Given the description of an element on the screen output the (x, y) to click on. 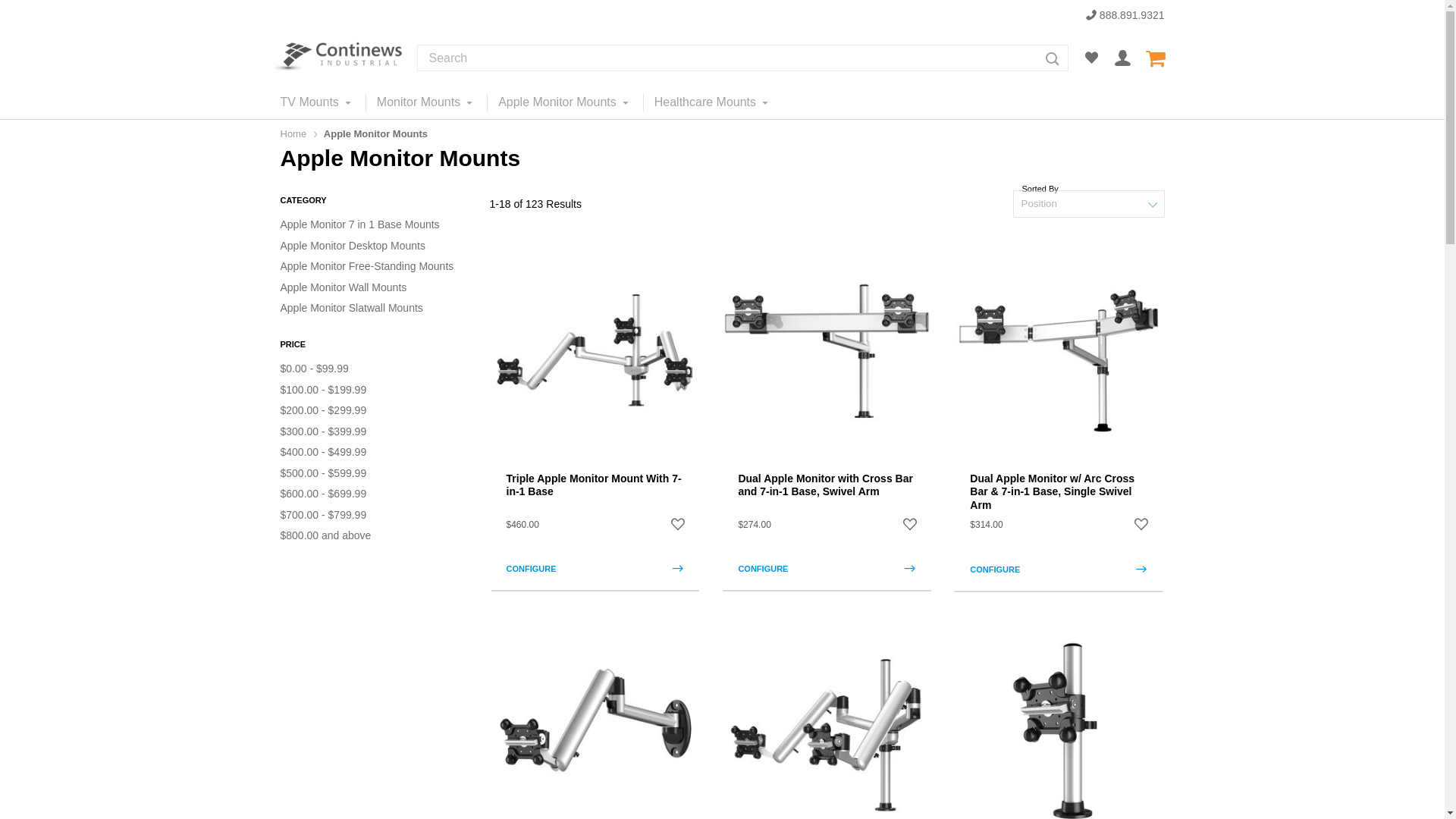
Search (1051, 58)
Add to Wish List (909, 524)
Go to Home Page (294, 133)
TV Mounts (323, 101)
Monitor Mounts (425, 101)
Add to Wish List (1141, 524)
Add to Wish List (677, 524)
